Given the description of an element on the screen output the (x, y) to click on. 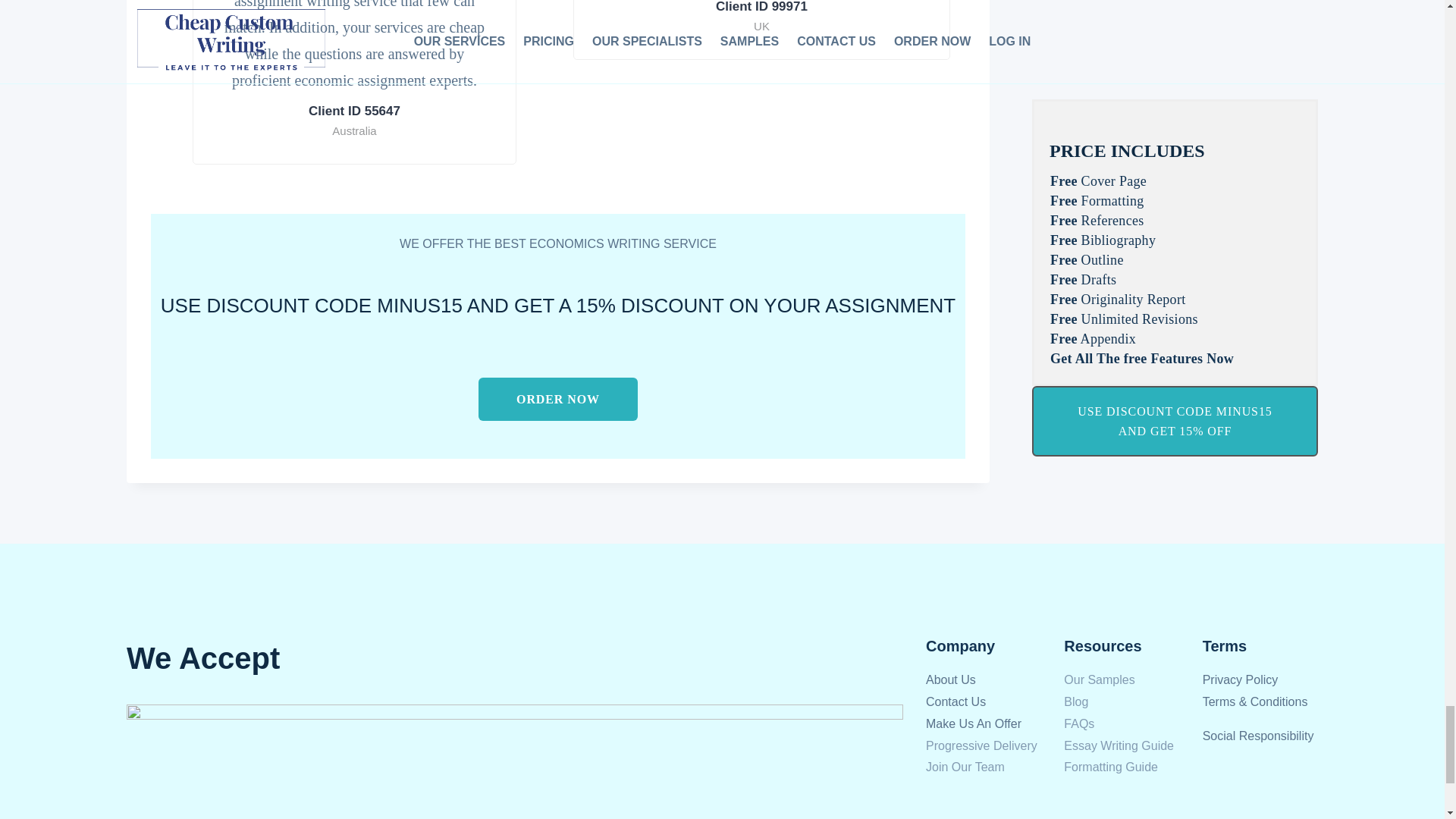
Contact Us (955, 701)
Social Responsibility (1258, 735)
About Us (950, 679)
ORDER NOW (558, 399)
Make Us An Offer (974, 723)
Privacy Policy (1240, 679)
